Given the description of an element on the screen output the (x, y) to click on. 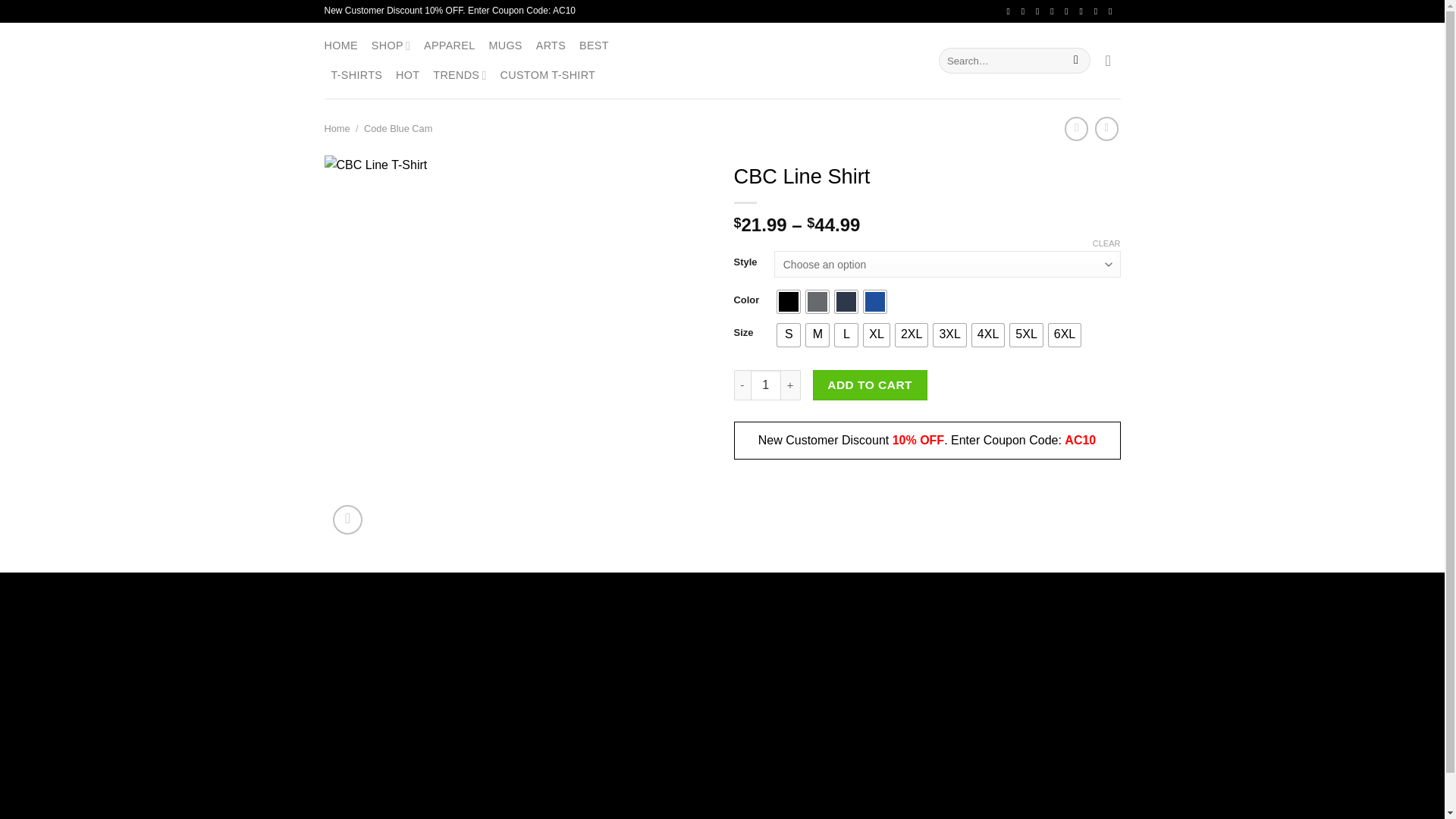
HOME (341, 45)
1 (765, 385)
Alberto Cerriteno - T-Shirts, Hoodies, Mugs, Arts (721, 60)
SHOP (390, 45)
